Given the description of an element on the screen output the (x, y) to click on. 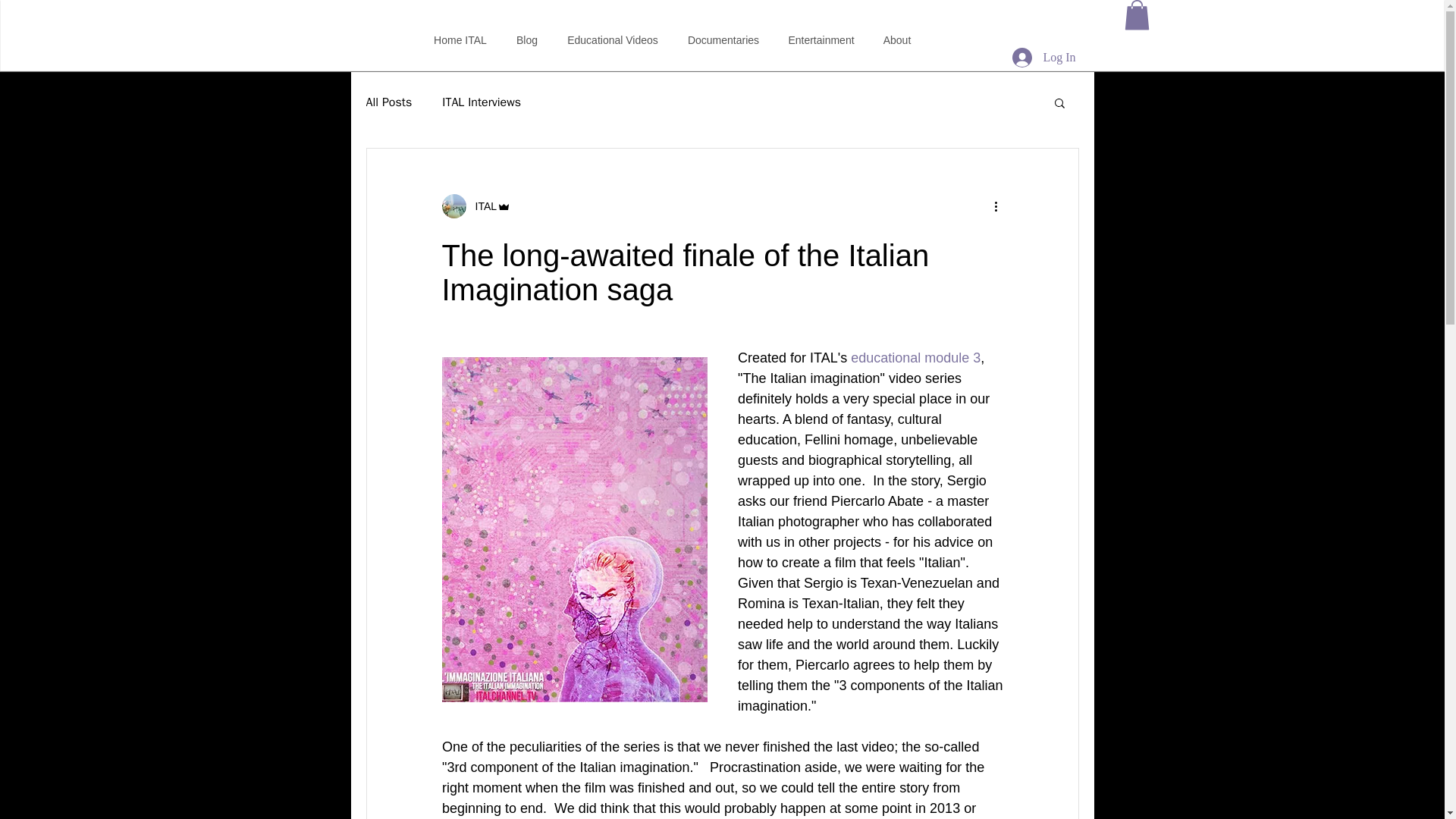
Log In (1043, 57)
Entertainment (820, 39)
ITAL (480, 206)
About (897, 39)
Home ITAL (459, 39)
educational module 3 (914, 357)
ITAL (476, 206)
Blog (527, 39)
Documentaries (723, 39)
All Posts (388, 102)
